Given the description of an element on the screen output the (x, y) to click on. 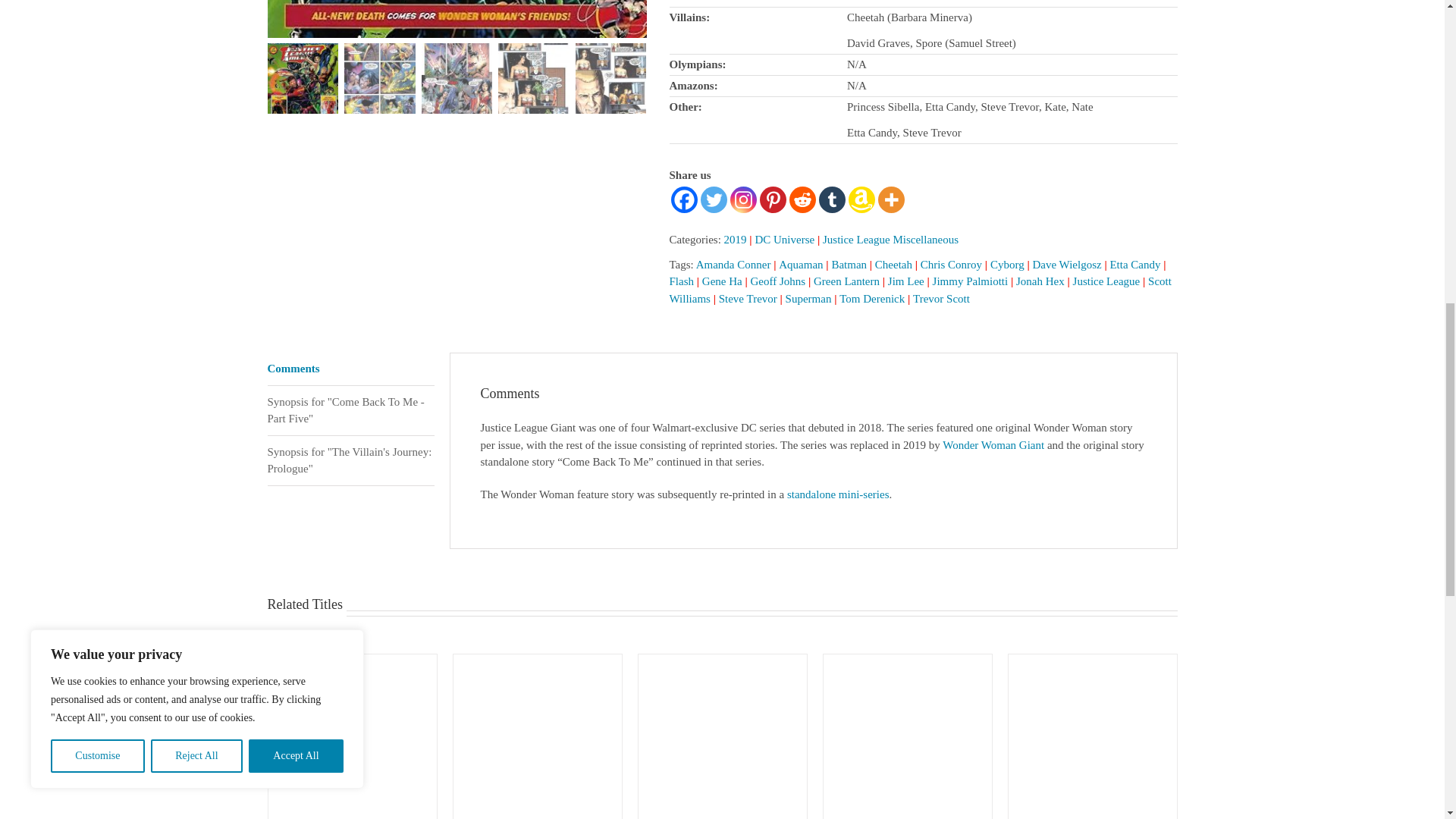
justice-league-giant-issue-7-cover (456, 18)
new-52-justice-league-issue-7-page-22 (133, 19)
Twitter (713, 199)
Instagram (742, 199)
Facebook (683, 199)
